Given the description of an element on the screen output the (x, y) to click on. 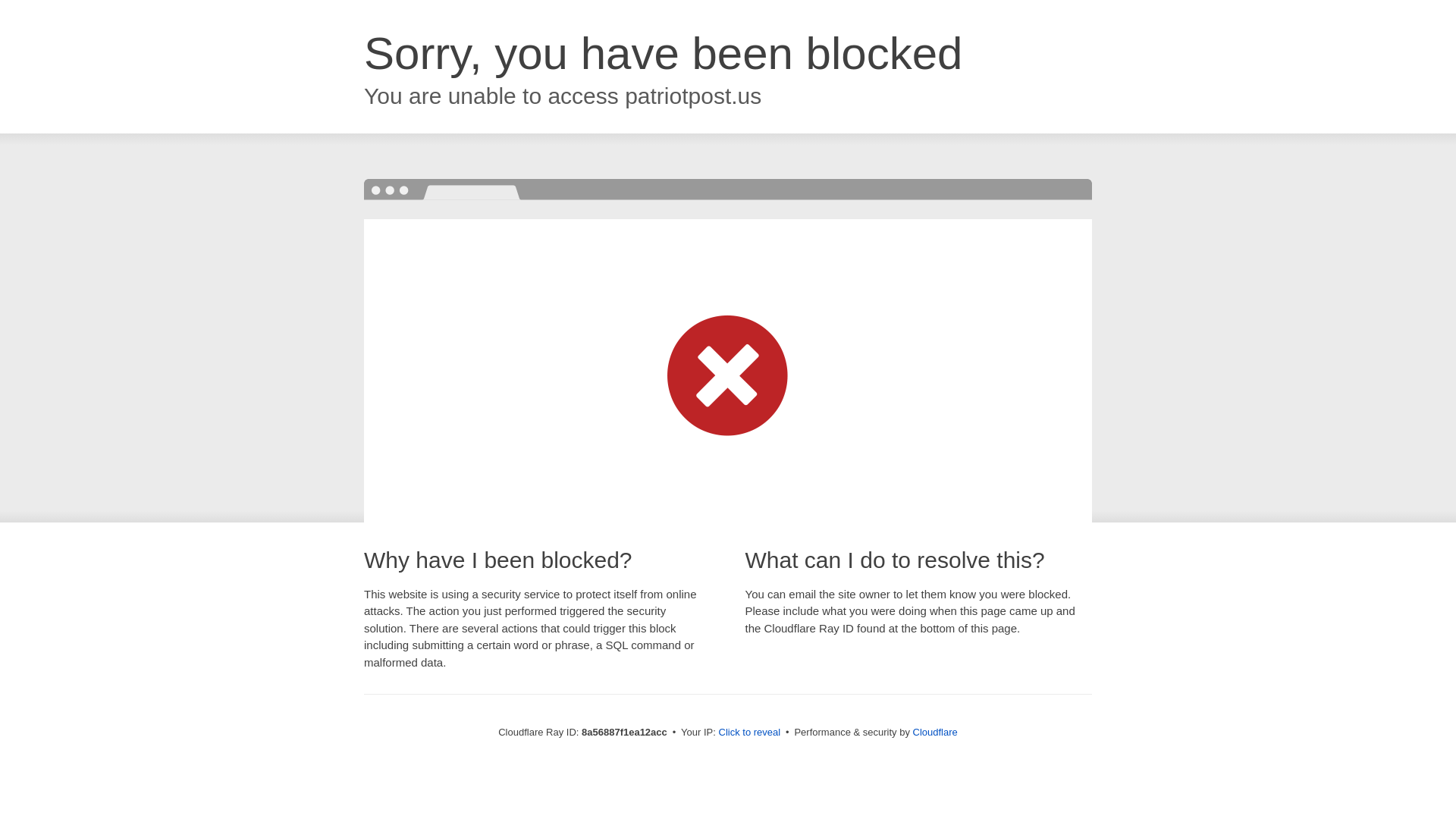
Click to reveal (749, 732)
Cloudflare (935, 731)
